Given the description of an element on the screen output the (x, y) to click on. 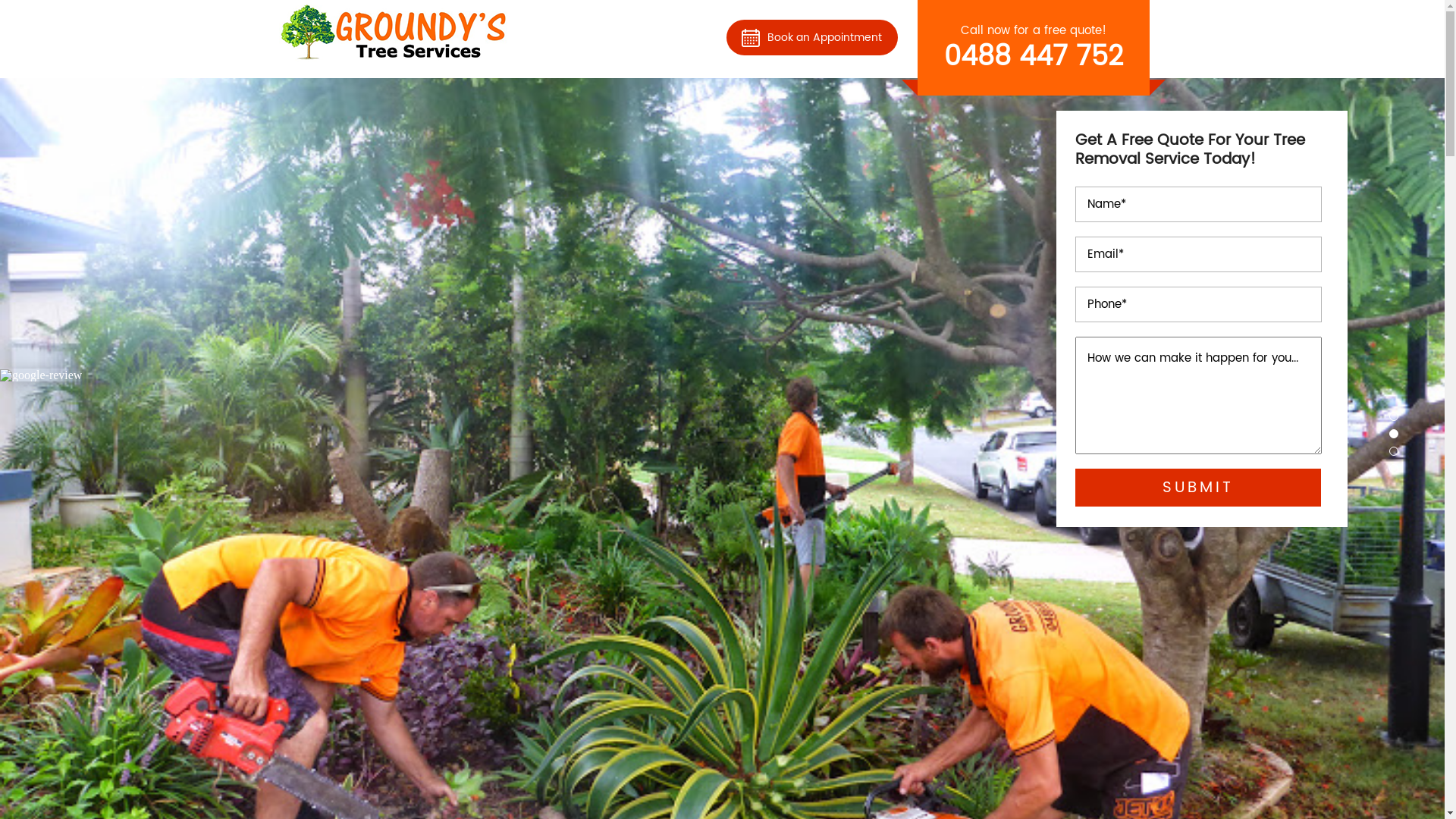
Book an Appointment Element type: text (811, 36)
SUBMIT Element type: text (1198, 487)
0488 447 752 Element type: text (1032, 56)
